Given the description of an element on the screen output the (x, y) to click on. 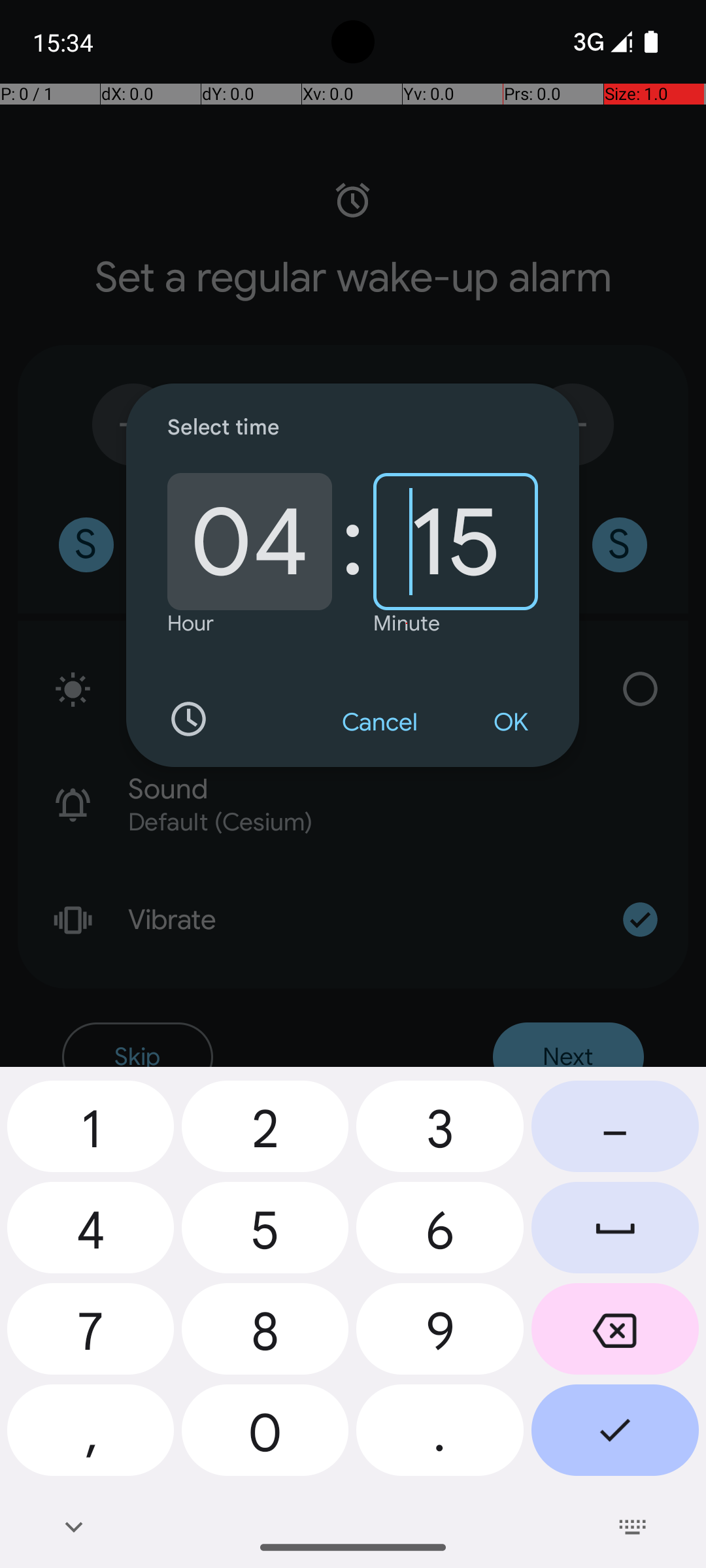
Hour Element type: android.widget.TextView (190, 623)
04 Element type: android.view.View (249, 541)
Minute Element type: android.widget.TextView (406, 623)
Switch to clock mode for the time input. Element type: android.widget.Button (188, 719)
Cancel Element type: android.widget.Button (379, 722)
Back Element type: android.widget.ImageView (73, 1526)
Switch input method Element type: android.widget.ImageView (632, 1526)
Dash Element type: android.widget.FrameLayout (614, 1130)
Space Element type: android.widget.FrameLayout (614, 1232)
, Element type: android.widget.FrameLayout (90, 1434)
. Element type: android.widget.FrameLayout (439, 1434)
Done Element type: android.widget.FrameLayout (614, 1434)
